Given the description of an element on the screen output the (x, y) to click on. 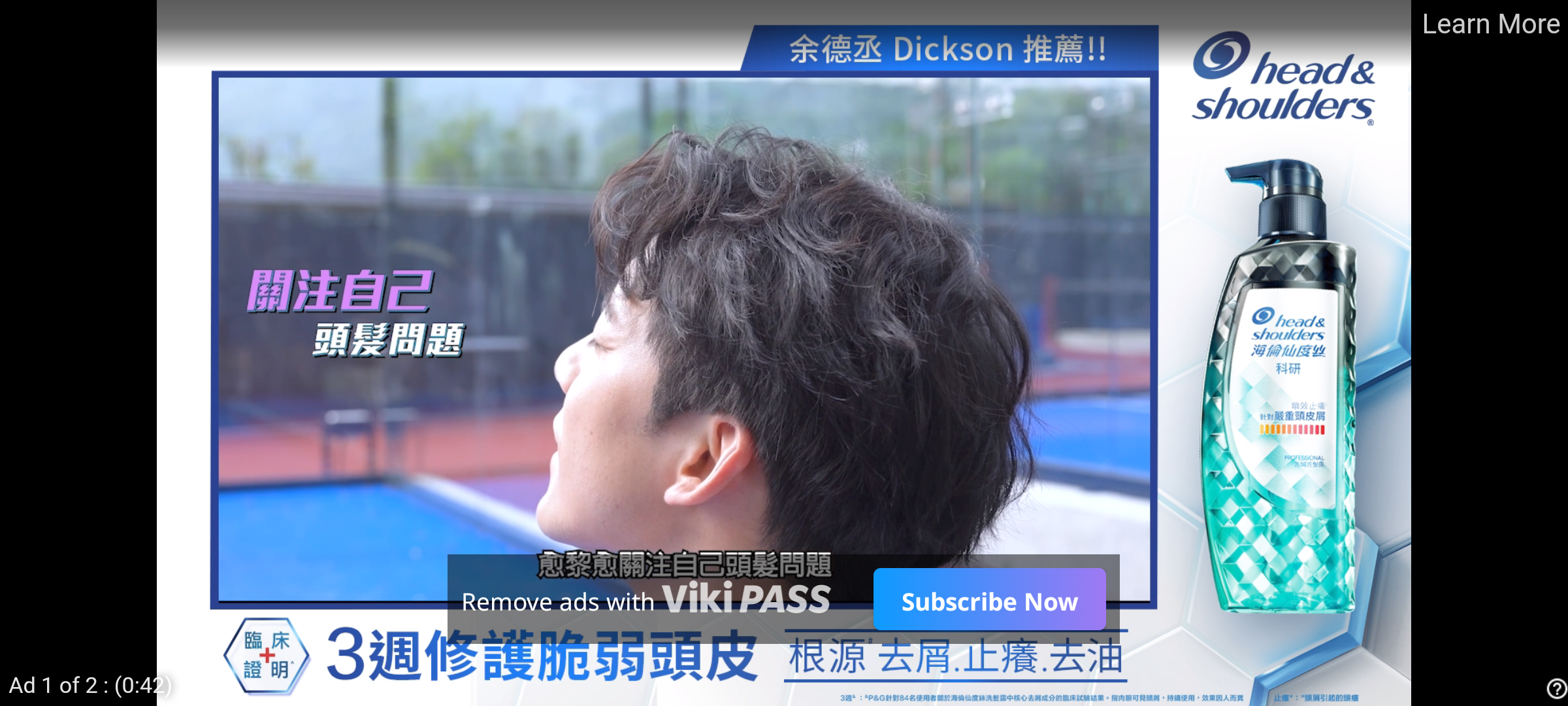
Learn More (1490, 24)
Subscribe Now (989, 599)
Ad 1 of 2 : (0:43) (90, 684)
help_outline_white_24dp_with_3px_trbl_padding (1553, 688)
